Given the description of an element on the screen output the (x, y) to click on. 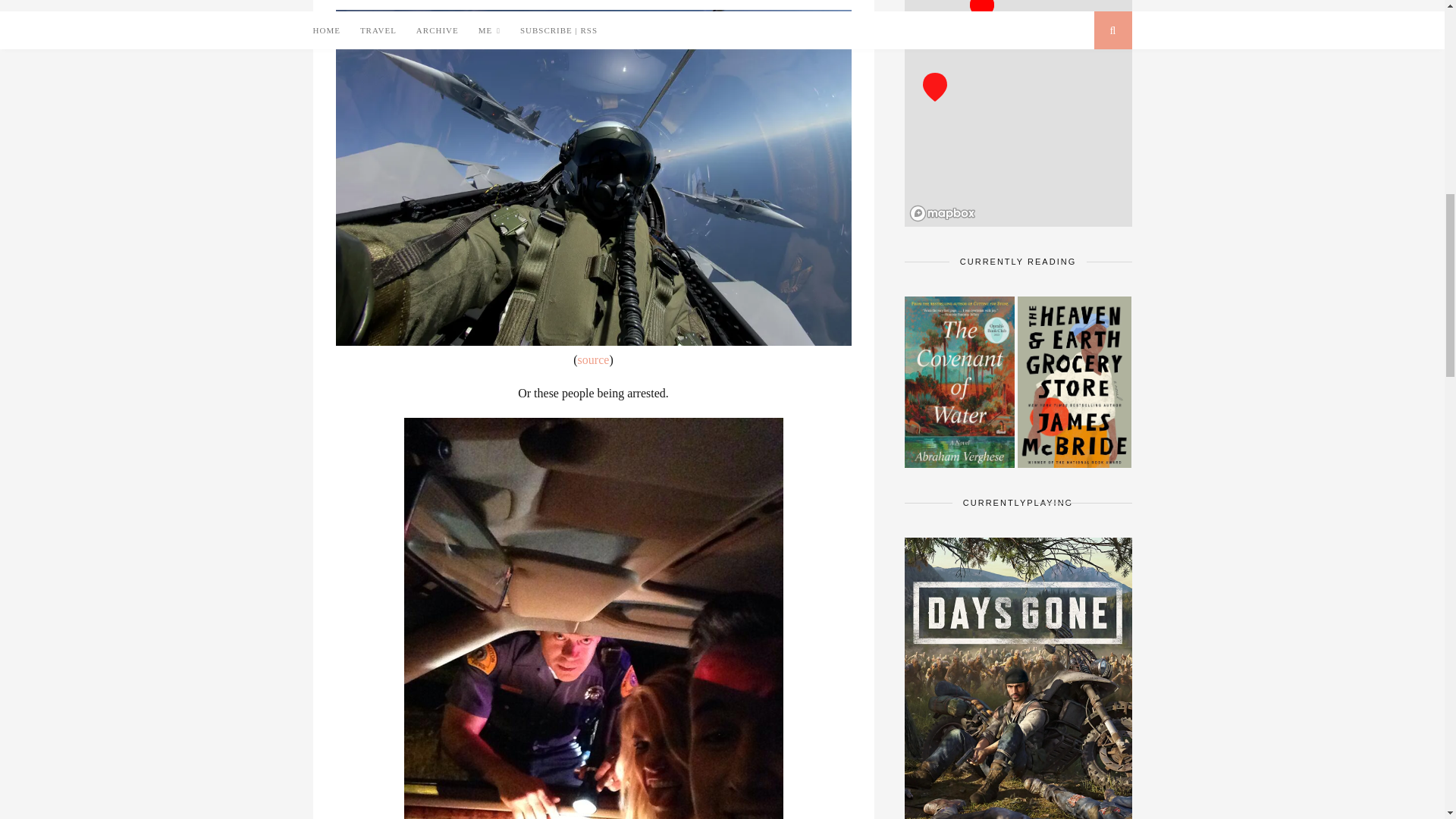
The pilot of a SAAB JAS 39 Gripen taking a self shot (594, 359)
source (594, 359)
